Given the description of an element on the screen output the (x, y) to click on. 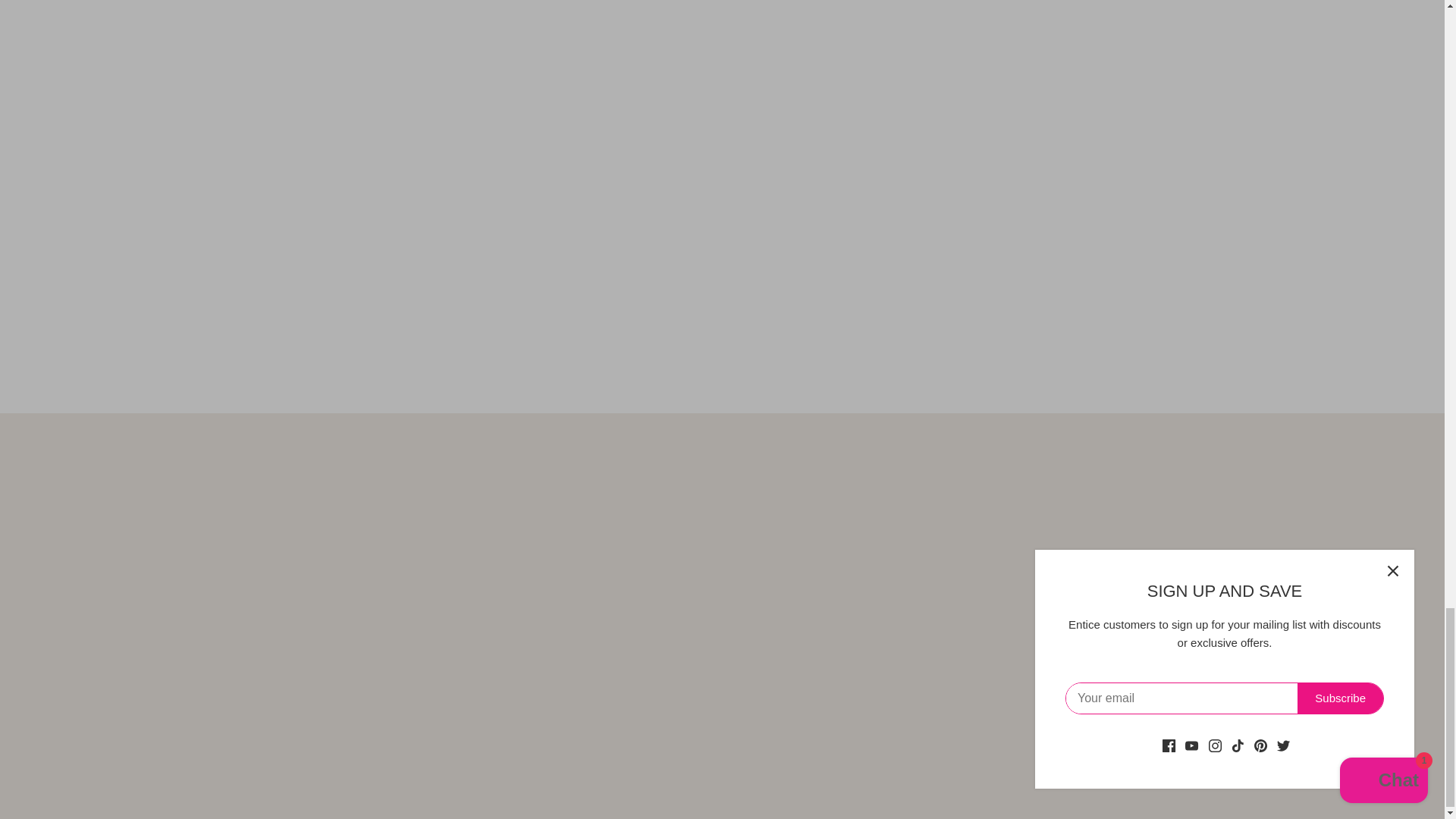
Subscribe (459, 481)
Post comment (472, 346)
